Given the description of an element on the screen output the (x, y) to click on. 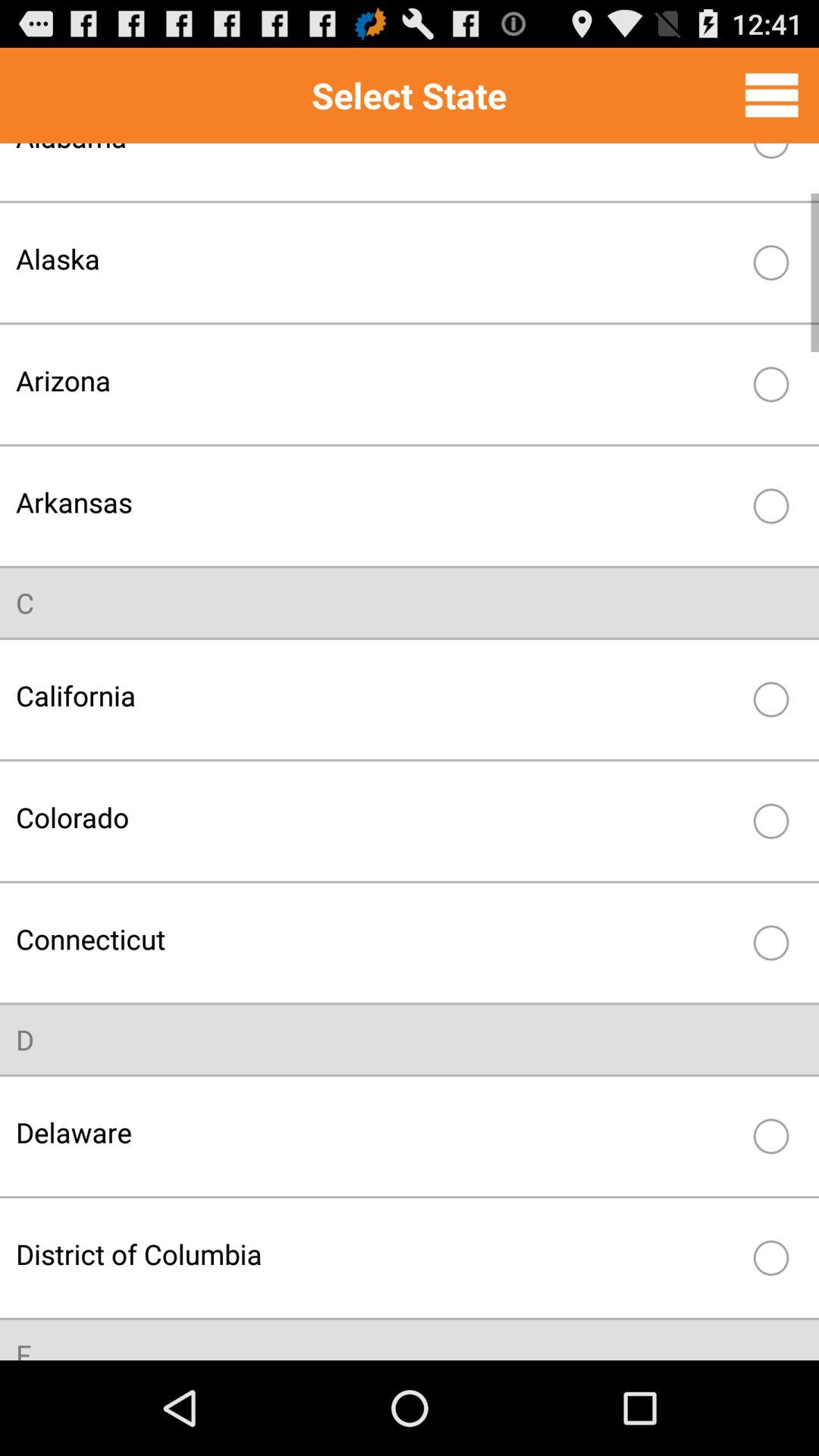
click arkansas item (377, 502)
